Given the description of an element on the screen output the (x, y) to click on. 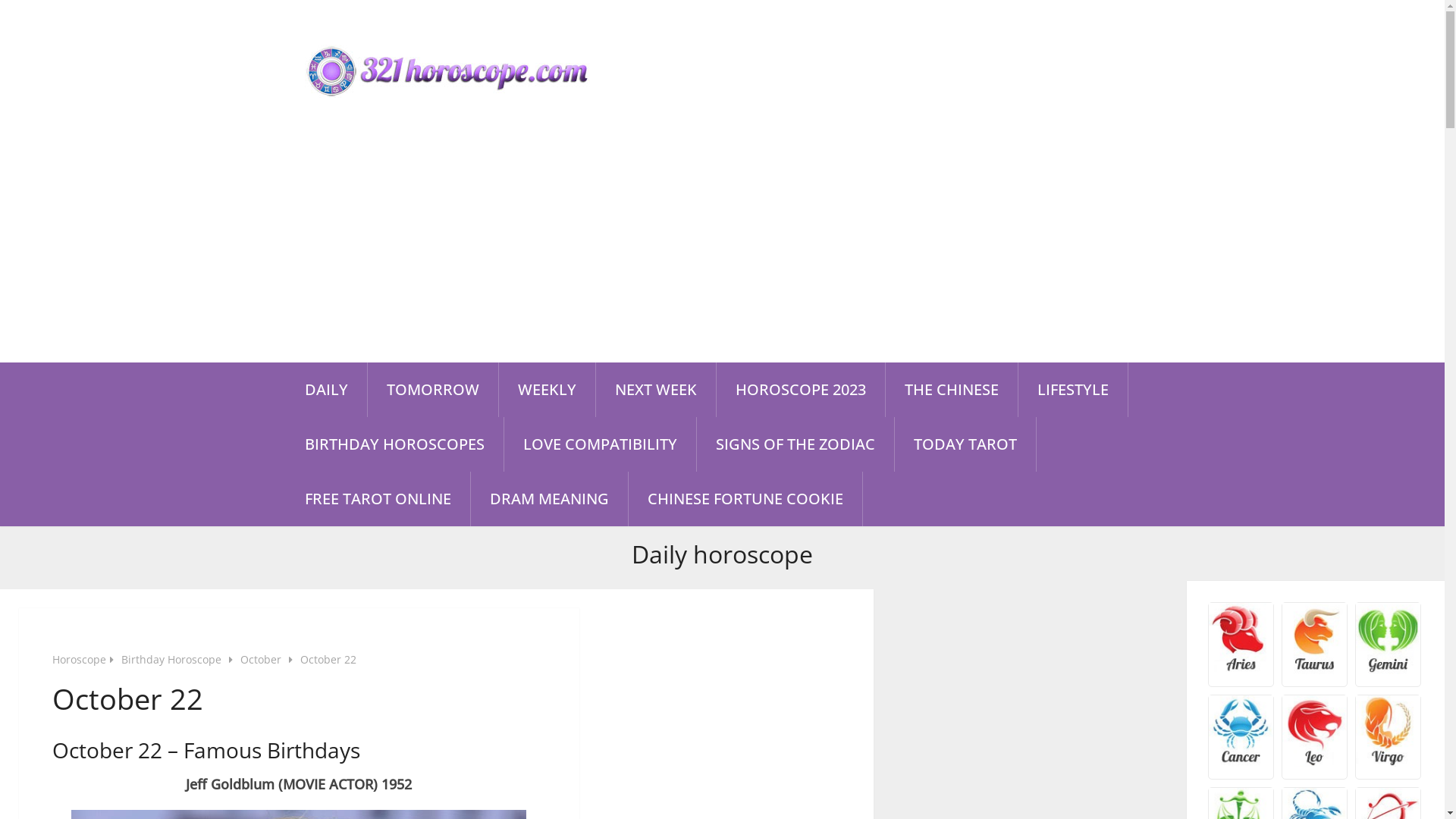
THE CHINESE Element type: text (951, 389)
LIFESTYLE Element type: text (1071, 389)
SIGNS OF THE ZODIAC Element type: text (794, 444)
TODAY TAROT Element type: text (964, 444)
Leo Element type: hover (1314, 761)
HOROSCOPE 2023 Element type: text (799, 389)
DAILY Element type: text (325, 389)
Horoscope Element type: text (79, 659)
WEEKLY Element type: text (546, 389)
Gemini Element type: hover (1387, 669)
Birthday Horoscope Element type: text (171, 659)
NEXT WEEK Element type: text (655, 389)
LOVE COMPATIBILITY Element type: text (599, 444)
TOMORROW Element type: text (432, 389)
Taurus Element type: hover (1314, 669)
Aries Element type: hover (1240, 669)
FREE TAROT ONLINE Element type: text (377, 498)
CHINESE FORTUNE COOKIE Element type: text (744, 498)
Advertisement Element type: hover (721, 248)
Daily horoscope Element type: text (722, 554)
Virgo Element type: hover (1387, 761)
Cancer Element type: hover (1240, 761)
October Element type: text (260, 659)
DRAM MEANING Element type: text (548, 498)
BIRTHDAY HOROSCOPES Element type: text (393, 444)
